Given the description of an element on the screen output the (x, y) to click on. 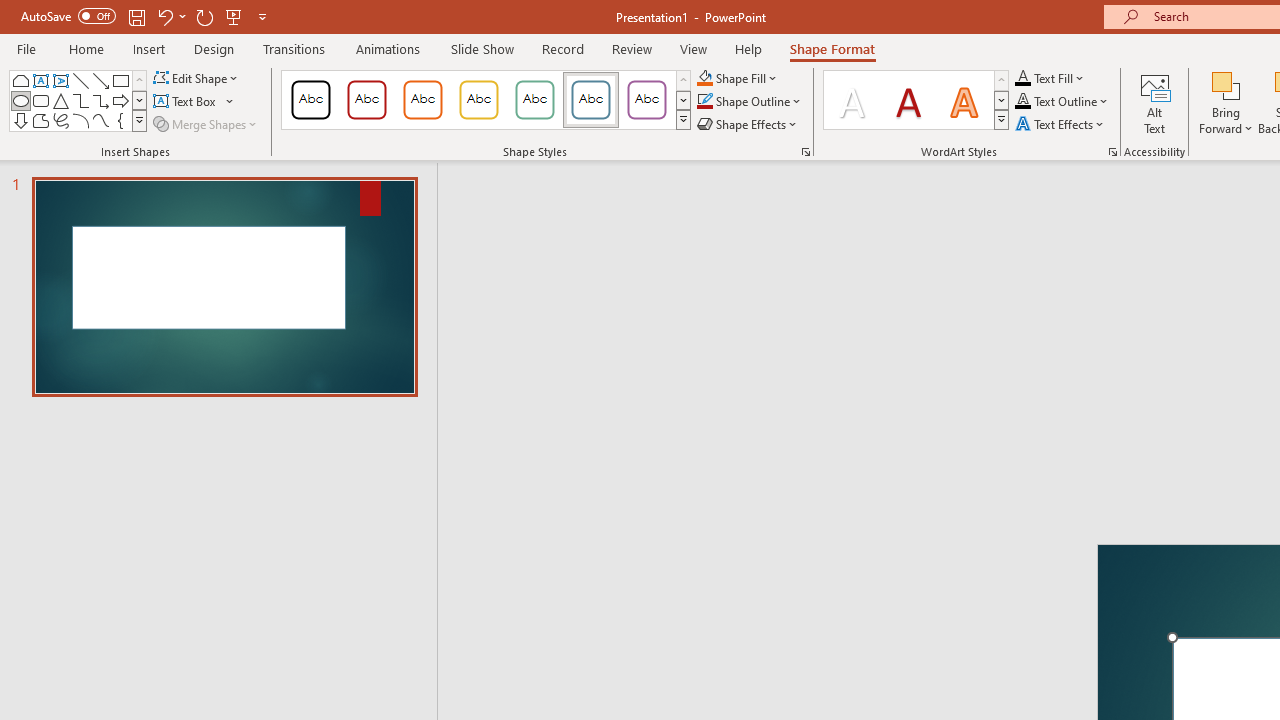
AutomationID: TextStylesGallery (916, 99)
Alt Text (1155, 102)
Colored Outline - Purple, Accent 6 (646, 100)
Bring Forward (1225, 84)
Text Outline RGB(0, 0, 0) (1023, 101)
Fill: Dark Red, Accent color 1; Shadow (908, 100)
